Given the description of an element on the screen output the (x, y) to click on. 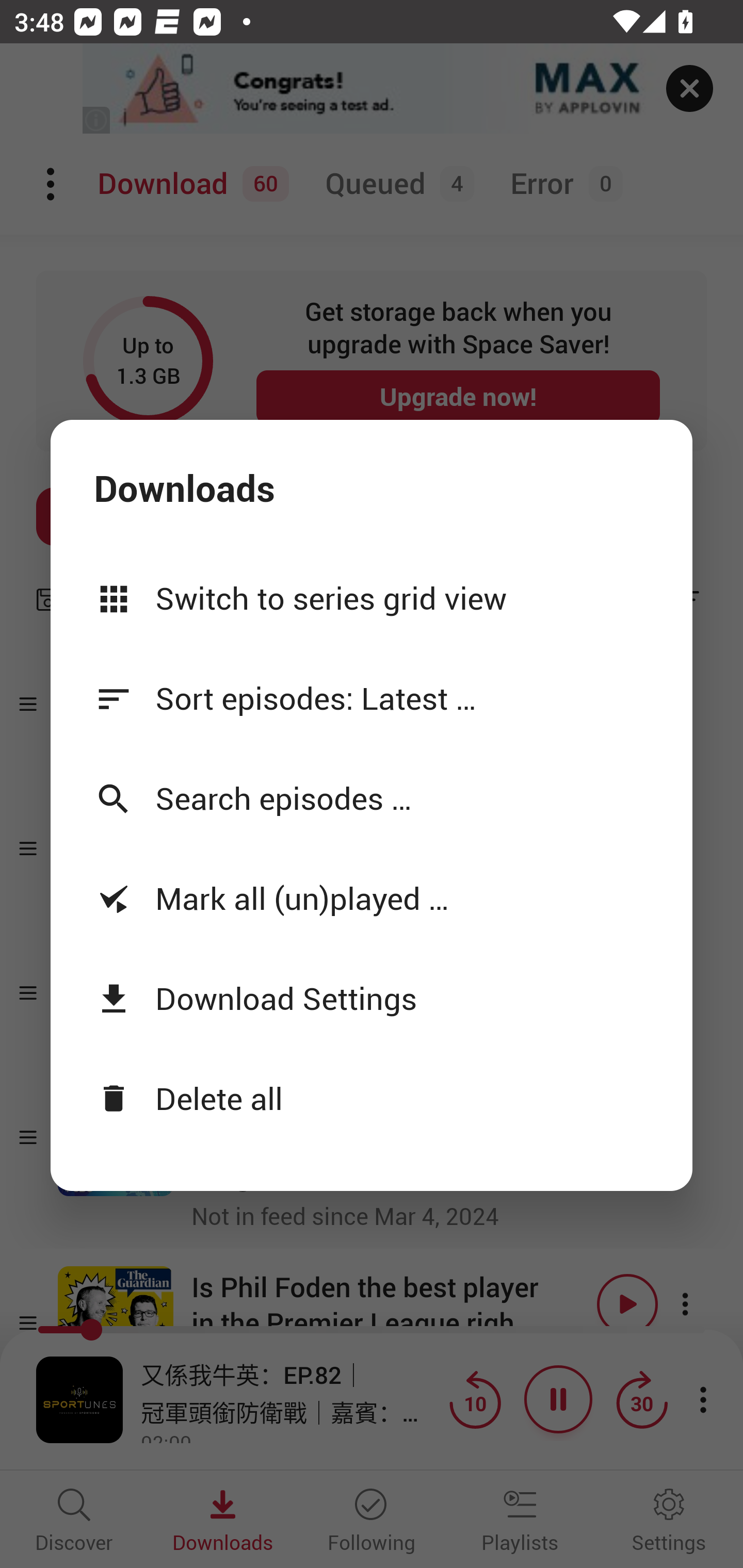
Switch to series grid view (371, 597)
Sort episodes: Latest … (371, 697)
Search episodes … (371, 797)
Mark all (un)played … (371, 898)
Download Settings (371, 997)
Delete all (371, 1097)
